Given the description of an element on the screen output the (x, y) to click on. 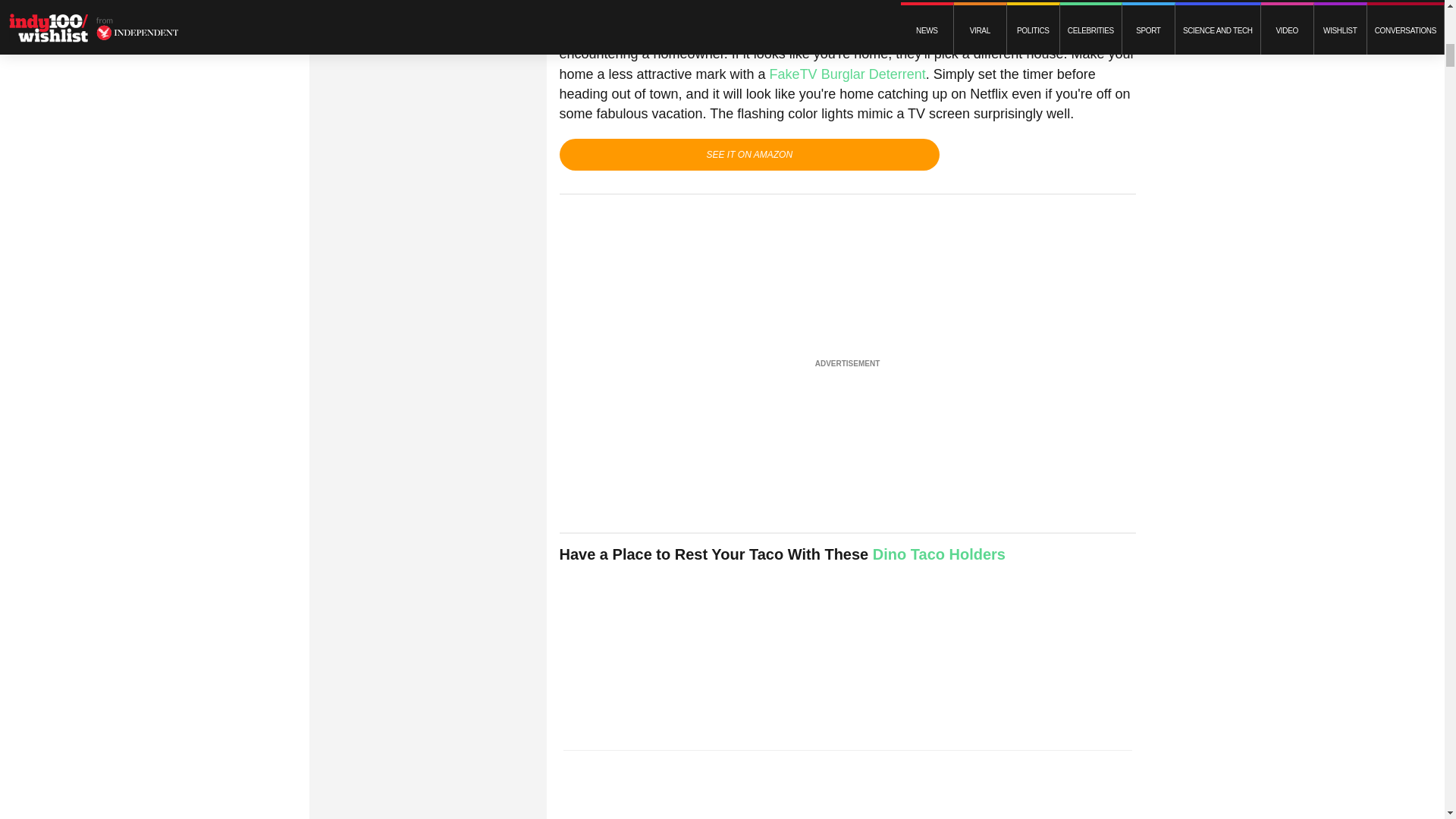
Buy Now (749, 154)
FakeTV Burglar Deterrent (848, 73)
Dino Taco Holders (939, 554)
